Given the description of an element on the screen output the (x, y) to click on. 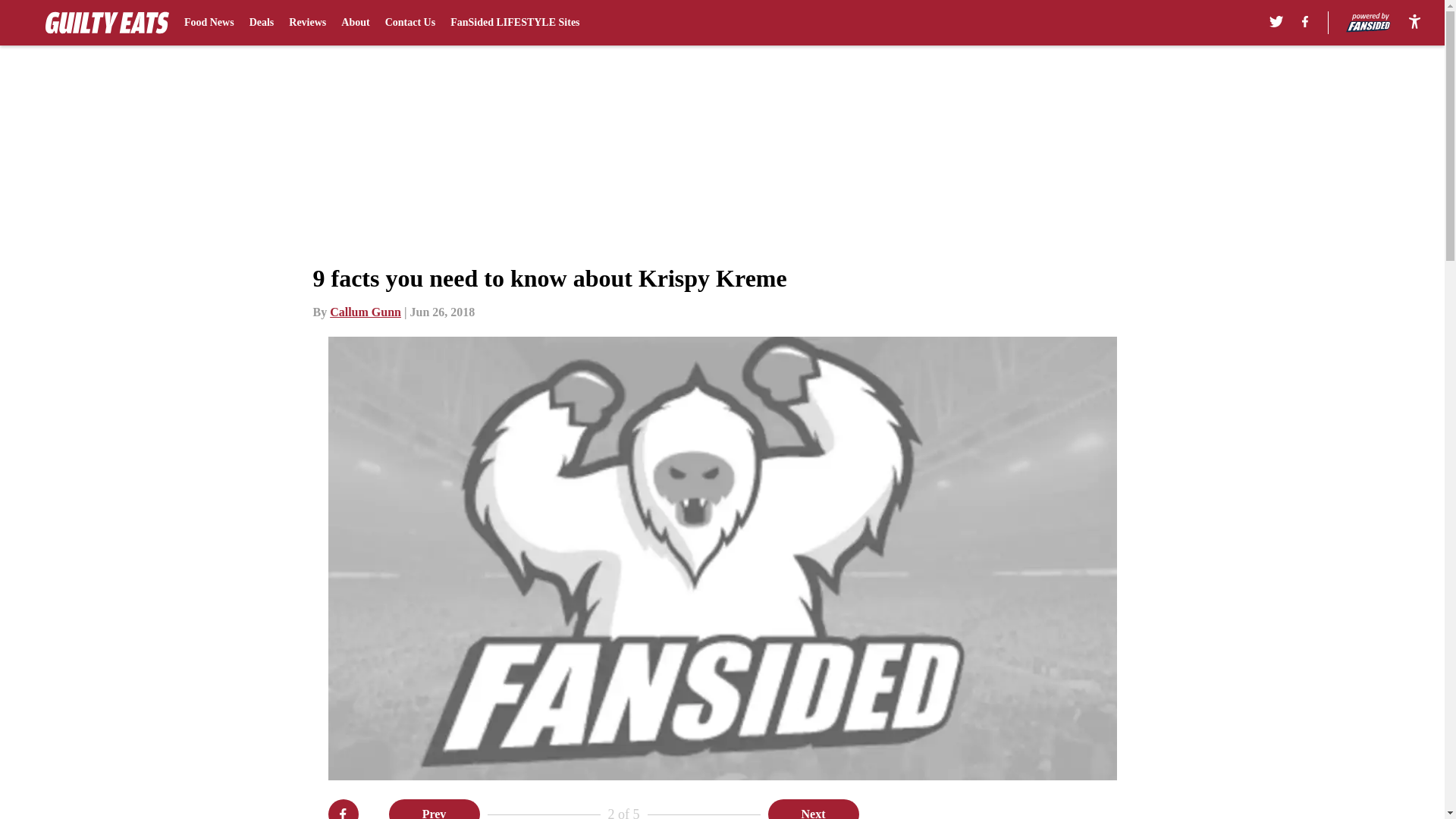
Prev (433, 809)
Reviews (307, 22)
Callum Gunn (365, 311)
3rd party ad content (1047, 809)
Contact Us (410, 22)
FanSided LIFESTYLE Sites (514, 22)
Next (813, 809)
About (354, 22)
Food News (209, 22)
Deals (261, 22)
